Given the description of an element on the screen output the (x, y) to click on. 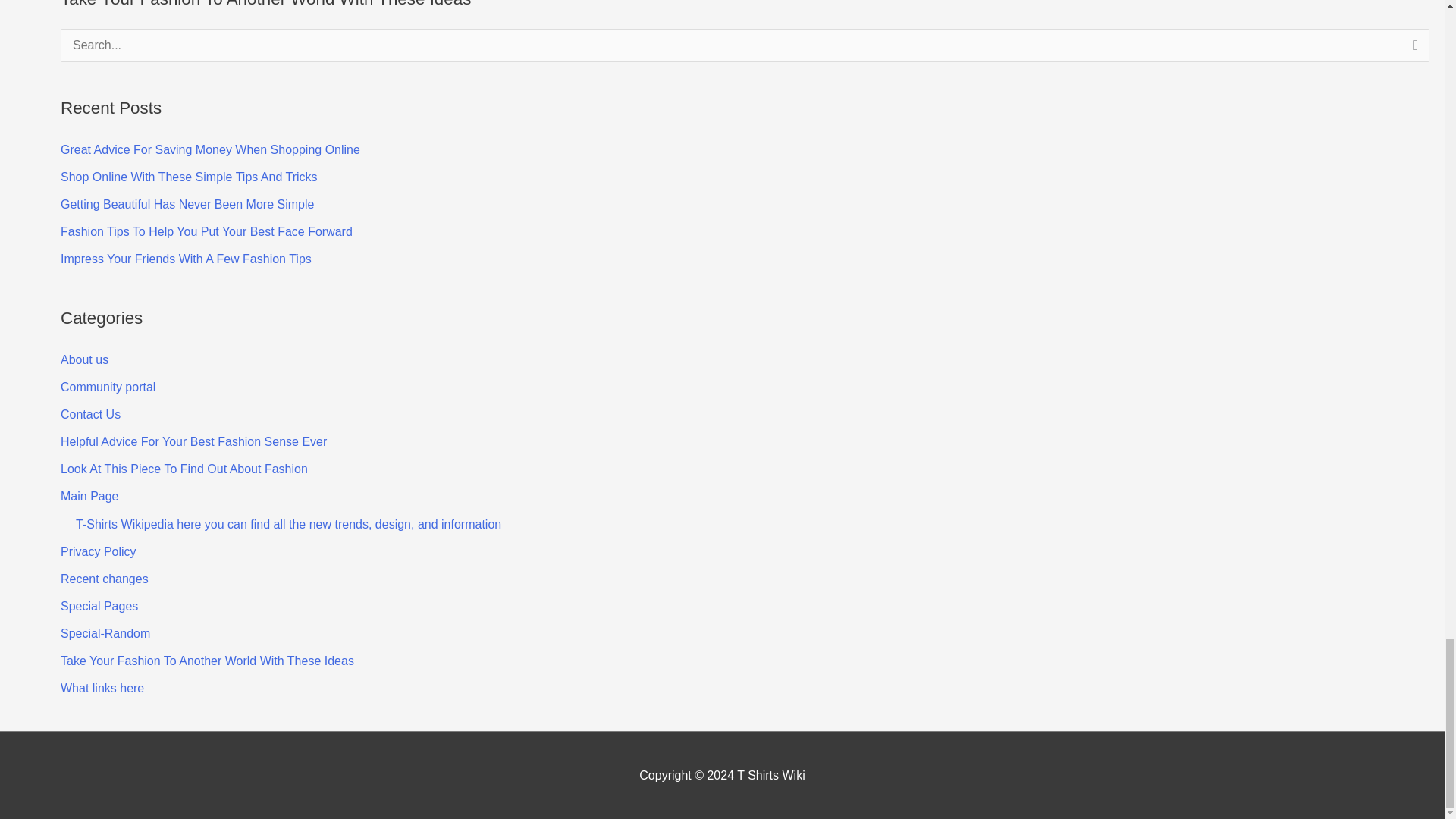
Community portal (108, 386)
Main Page (90, 495)
Special-Random (105, 633)
Privacy Policy (98, 551)
Helpful Advice For Your Best Fashion Sense Ever (193, 440)
Getting Beautiful Has Never Been More Simple (187, 204)
Impress Your Friends With A Few Fashion Tips (186, 258)
Recent changes (104, 578)
Contact Us (90, 413)
Shop Online With These Simple Tips And Tricks (189, 176)
